Given the description of an element on the screen output the (x, y) to click on. 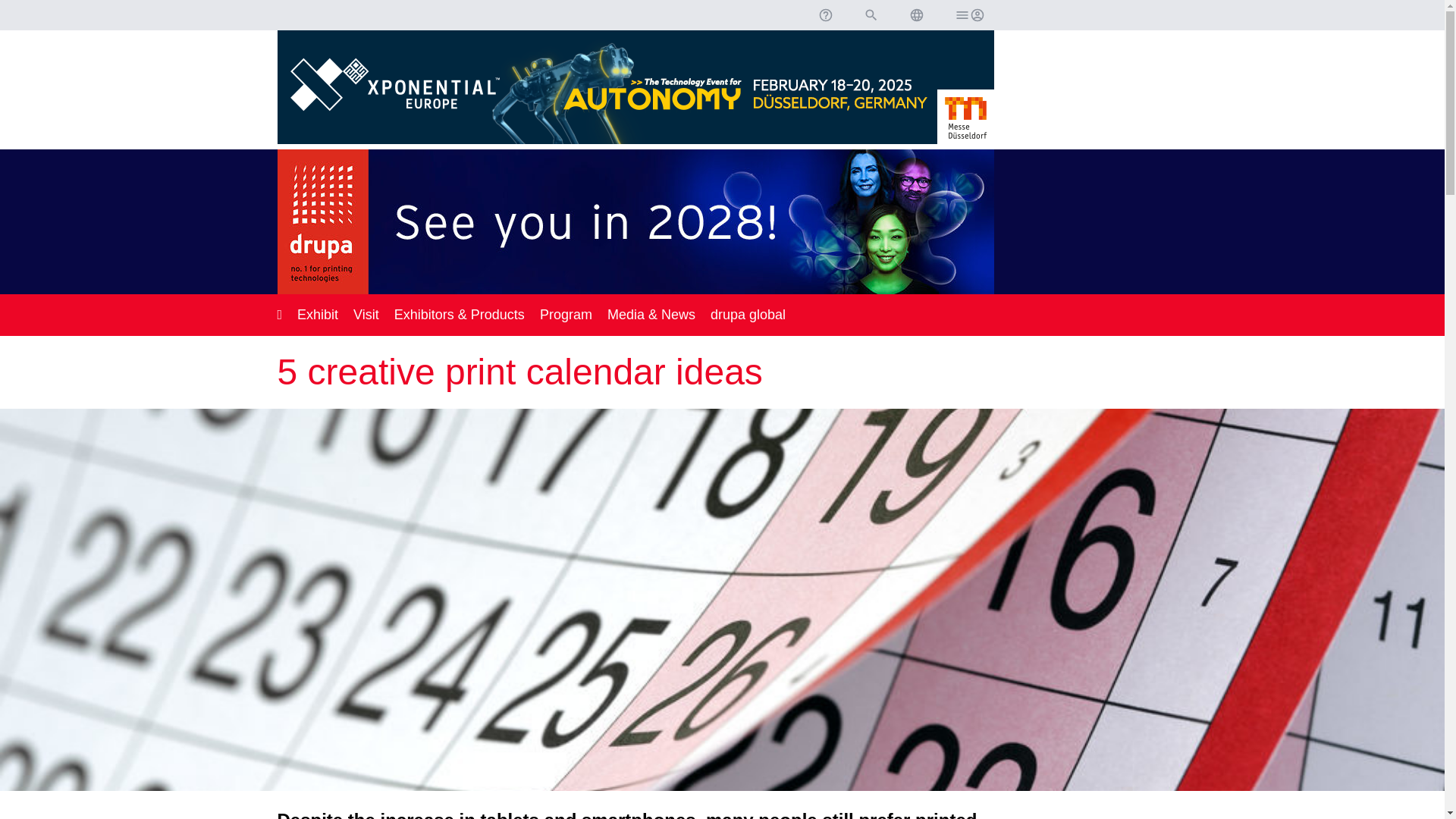
ENGLISH (915, 14)
Search (870, 14)
Support (824, 14)
Login (968, 14)
